Given the description of an element on the screen output the (x, y) to click on. 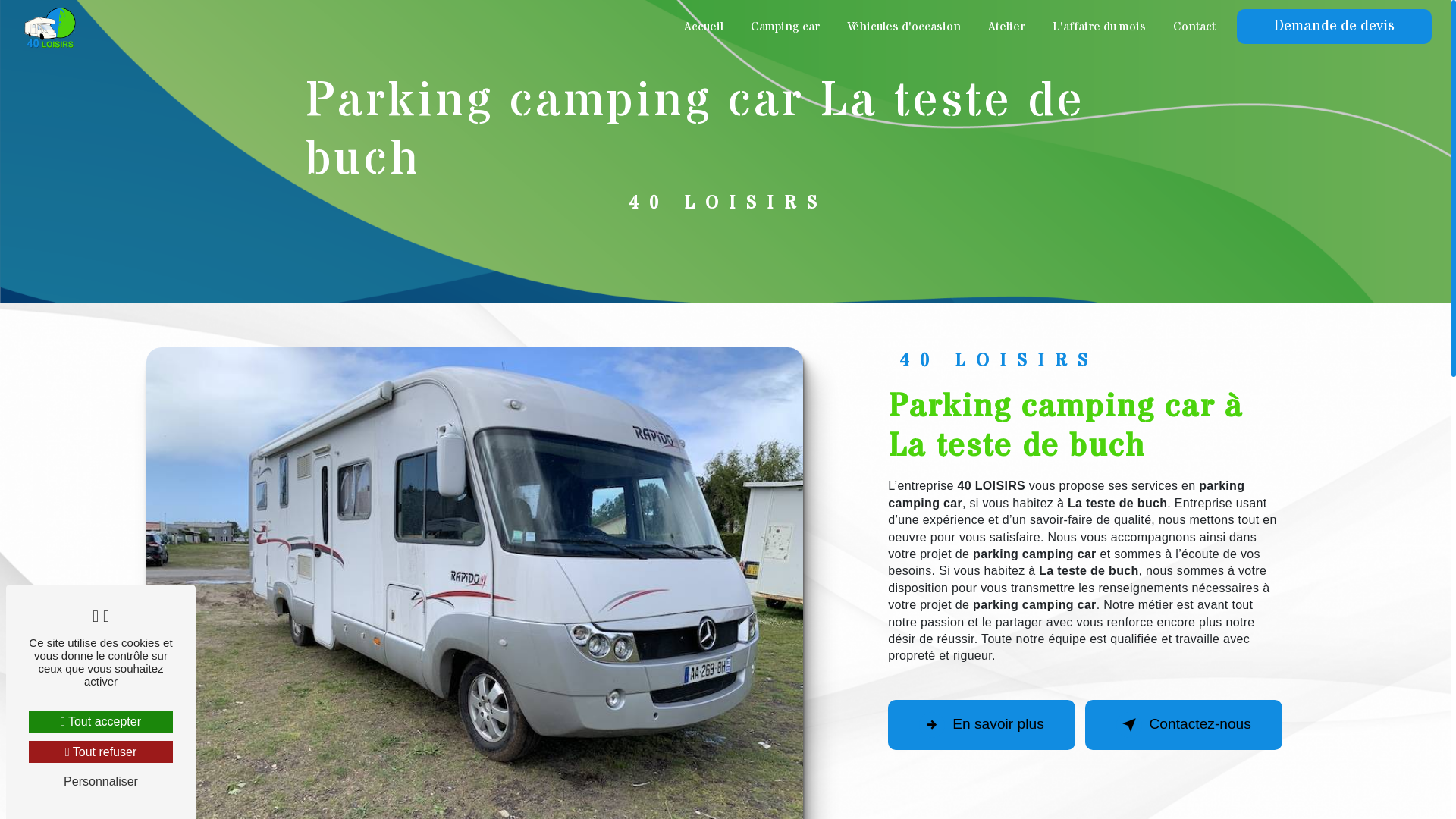
Demande de devis Element type: text (1333, 26)
Contactez-nous Element type: text (1182, 724)
En savoir plus Element type: text (981, 724)
L'affaire du mois Element type: text (1098, 26)
Atelier Element type: text (1006, 26)
logo Element type: hover (49, 26)
Personnaliser Element type: text (100, 781)
Contact Element type: text (1194, 26)
Tout refuser Element type: text (100, 751)
Camping car Element type: text (784, 26)
Tout accepter Element type: text (100, 721)
Accueil Element type: text (703, 26)
